Given the description of an element on the screen output the (x, y) to click on. 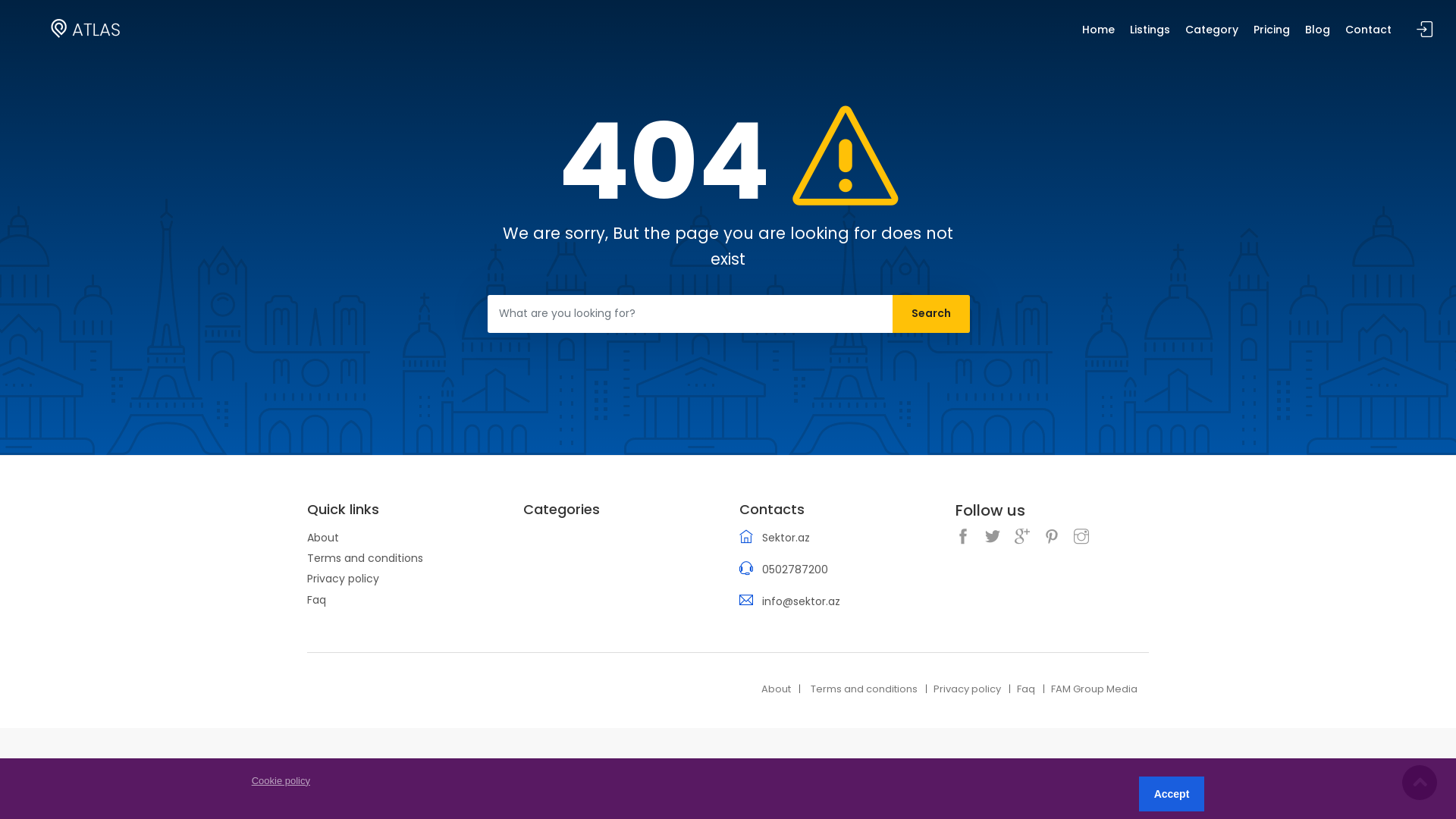
Faq Element type: text (316, 599)
Contact Element type: text (1368, 35)
Privacy policy Element type: text (967, 689)
Faq Element type: text (1025, 689)
Listings Element type: text (1149, 35)
FAM Group Media Element type: text (1094, 689)
Terms and conditions Element type: text (863, 689)
Privacy policy Element type: text (343, 578)
Quick links Element type: text (403, 509)
Pricing Element type: text (1271, 35)
Cookie policy Element type: text (280, 780)
Search Element type: text (930, 313)
About Element type: text (775, 689)
Terms and conditions Element type: text (365, 557)
About Element type: text (322, 537)
Home Element type: text (1098, 35)
Sign in Element type: text (1424, 29)
Category Element type: text (1211, 35)
info@sektor.az Element type: text (801, 601)
Contacts Element type: text (835, 509)
Categories Element type: text (619, 509)
Blog Element type: text (1317, 35)
Accept Element type: text (1171, 793)
